Given the description of an element on the screen output the (x, y) to click on. 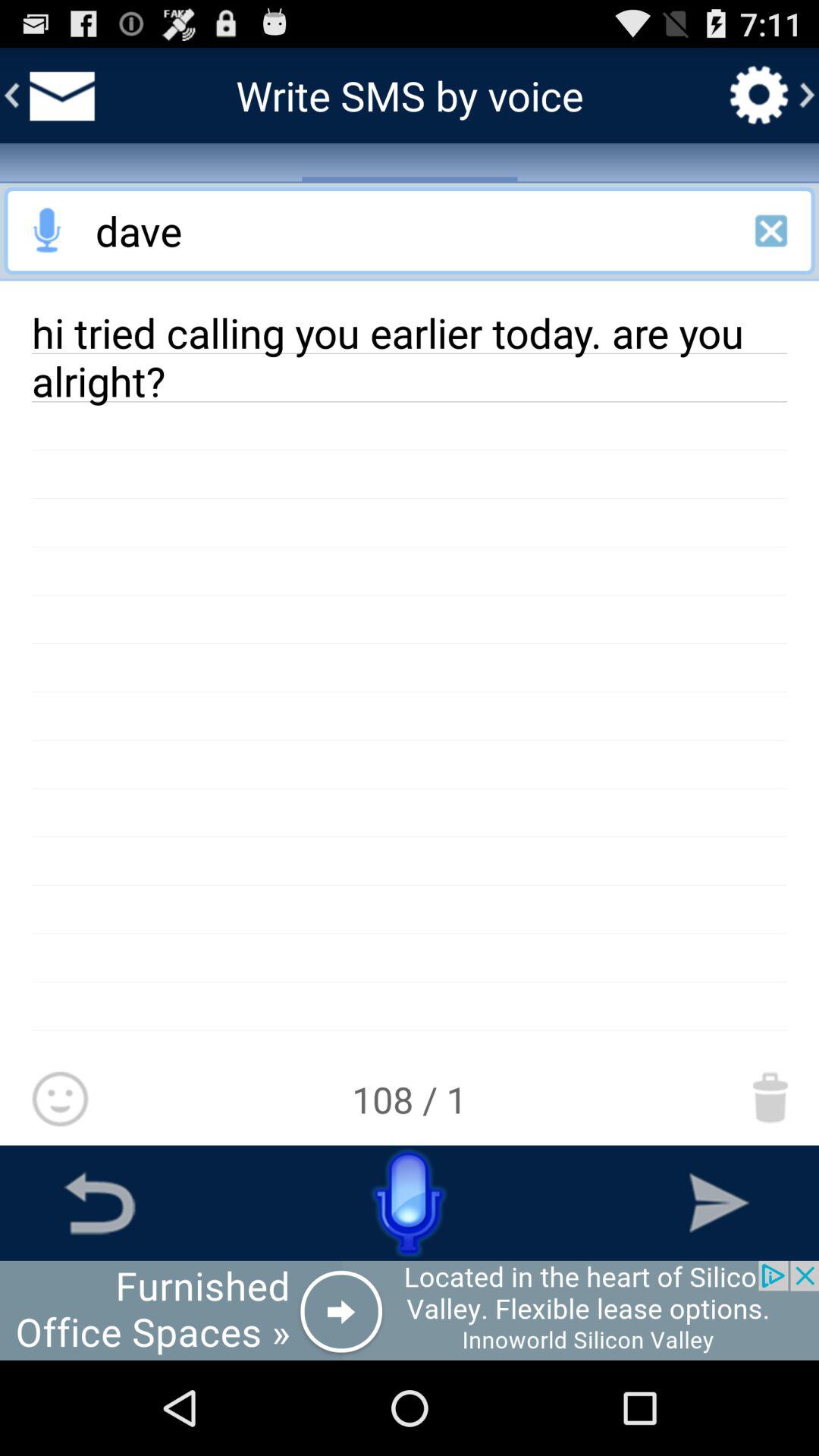
use phone microphone (409, 1202)
